Given the description of an element on the screen output the (x, y) to click on. 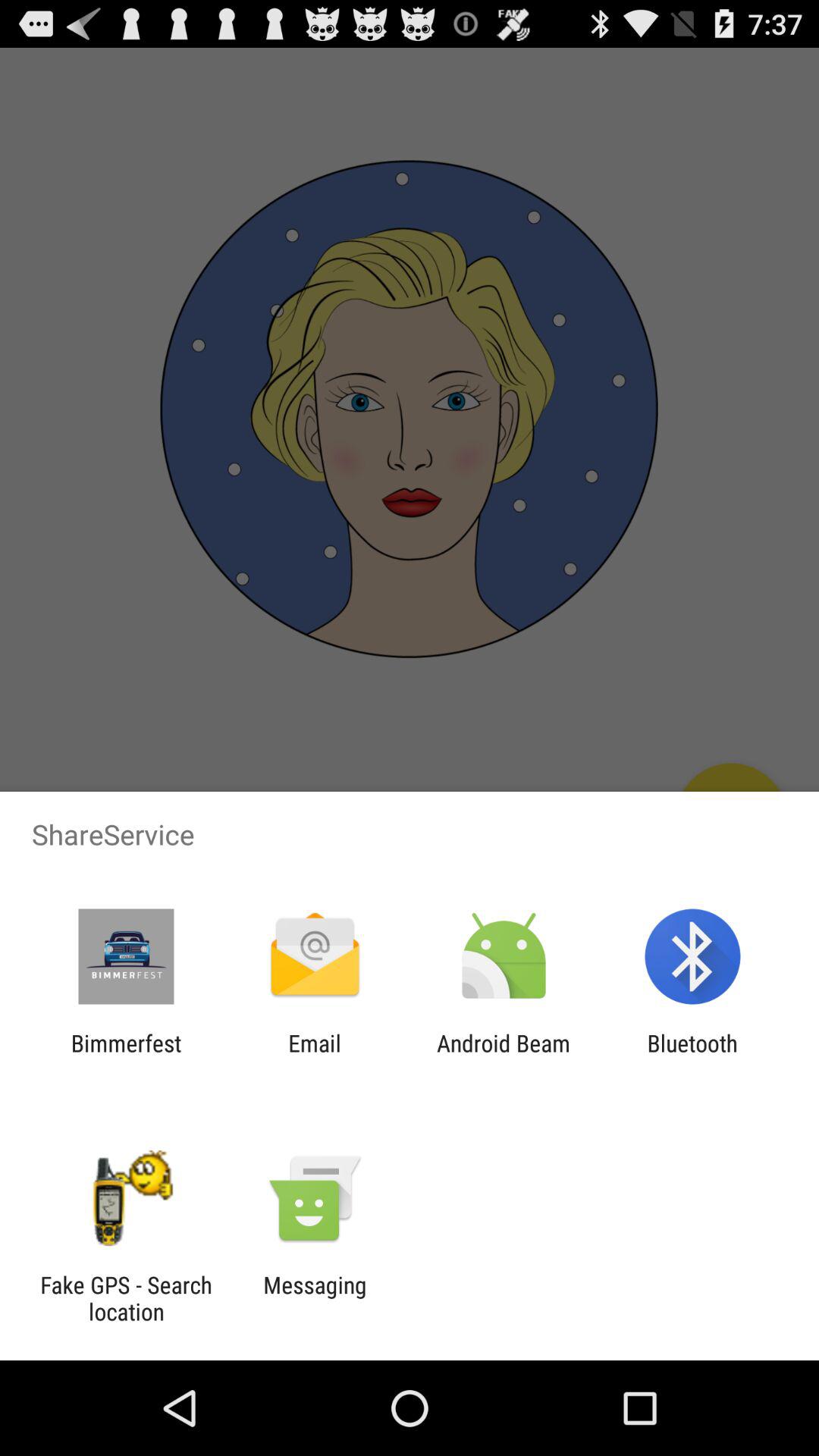
tap icon to the left of android beam item (314, 1056)
